Given the description of an element on the screen output the (x, y) to click on. 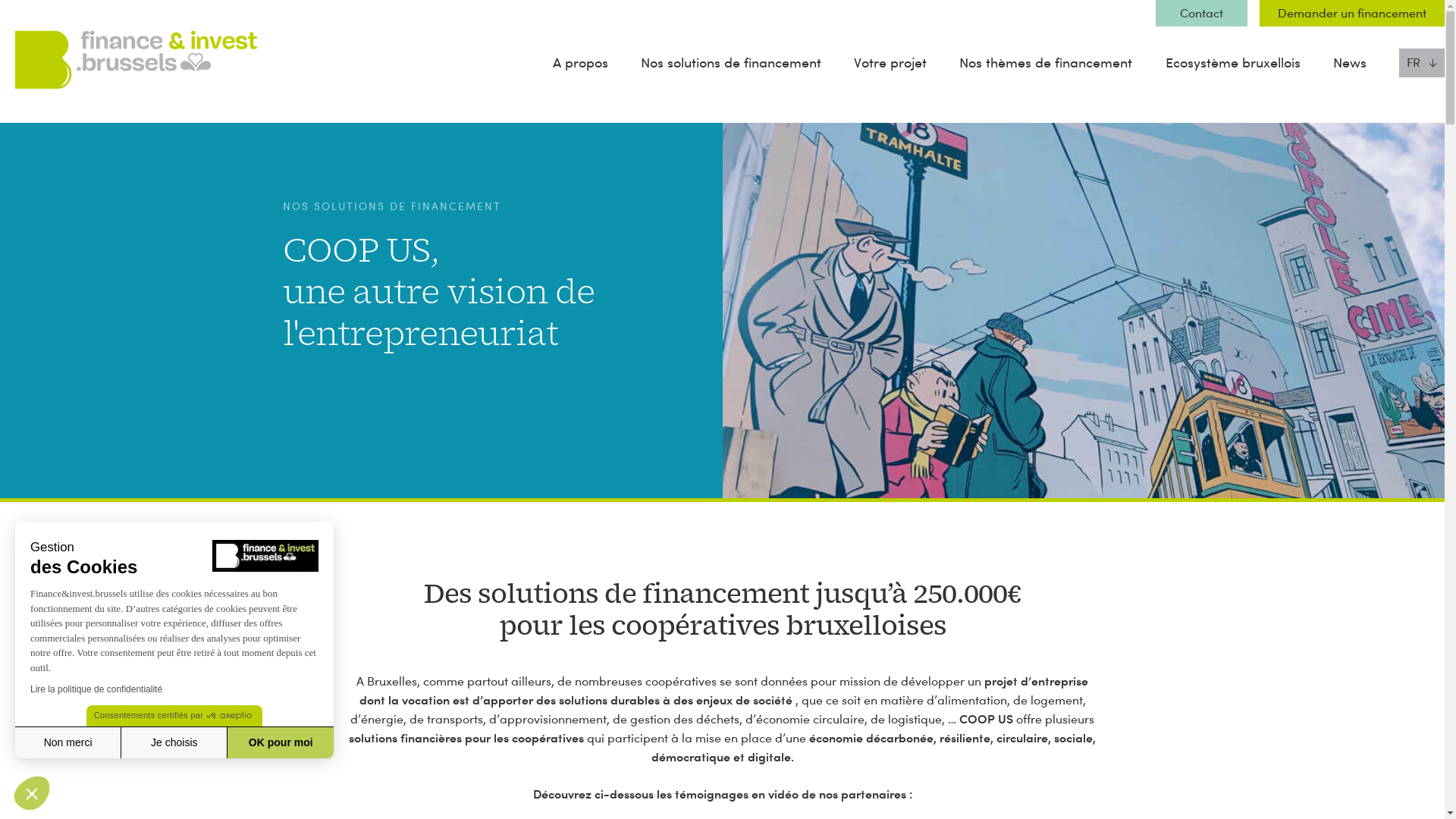
Demander un financement Element type: text (1351, 13)
Je choisis Element type: text (174, 742)
OK pour moi Element type: text (280, 742)
finance&invest.brussels Element type: text (86, 120)
Non merci Element type: text (68, 742)
submit Element type: text (721, 583)
A propos Element type: text (580, 62)
submit Element type: text (721, 642)
Fermer le widget sans consentement Element type: hover (31, 793)
News Element type: text (1349, 62)
Contact Element type: text (1201, 13)
Nos solutions de financement Element type: text (730, 62)
Votre projet Element type: text (889, 62)
